Given the description of an element on the screen output the (x, y) to click on. 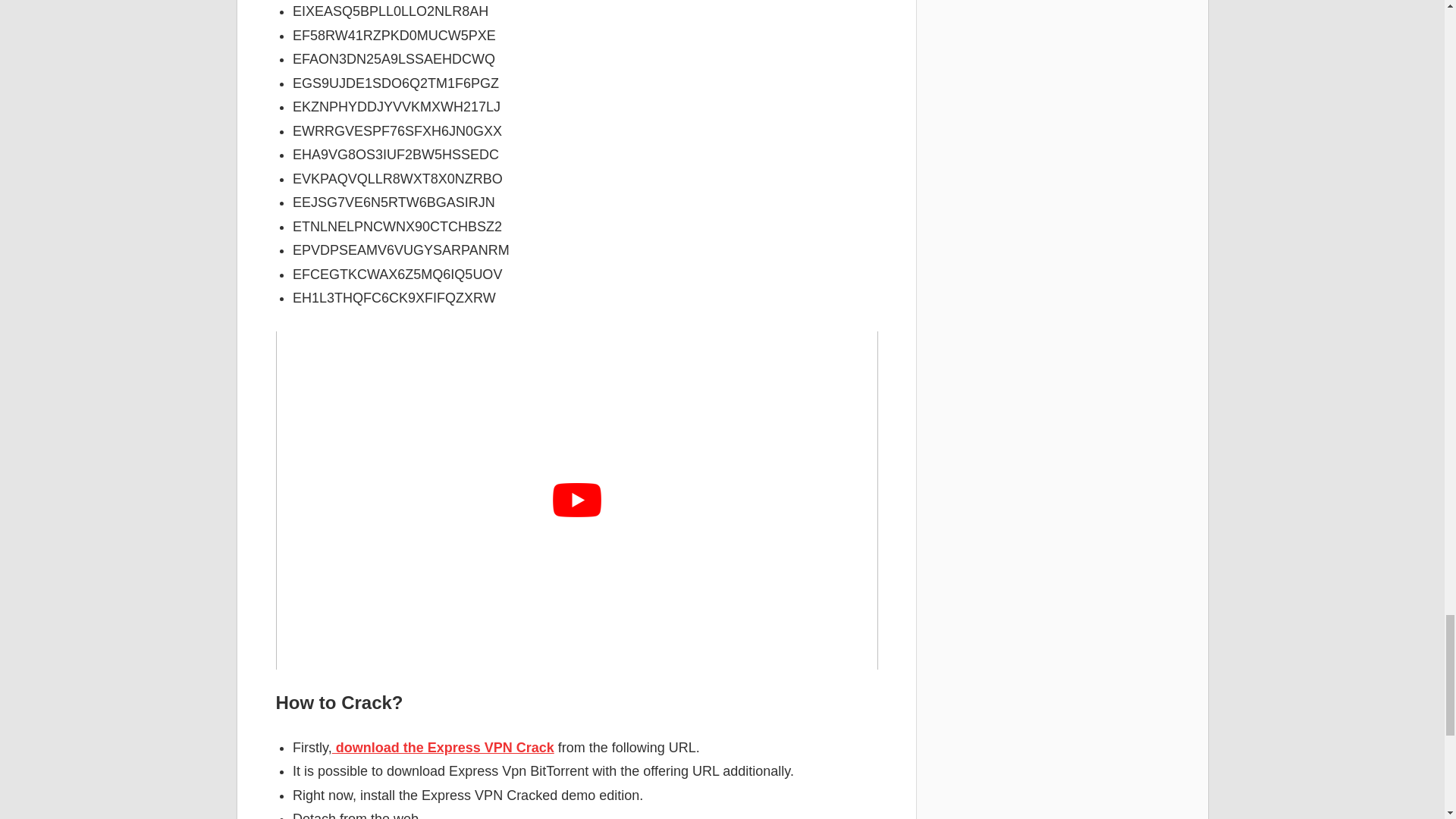
download the Express VPN Crack (442, 747)
